Given the description of an element on the screen output the (x, y) to click on. 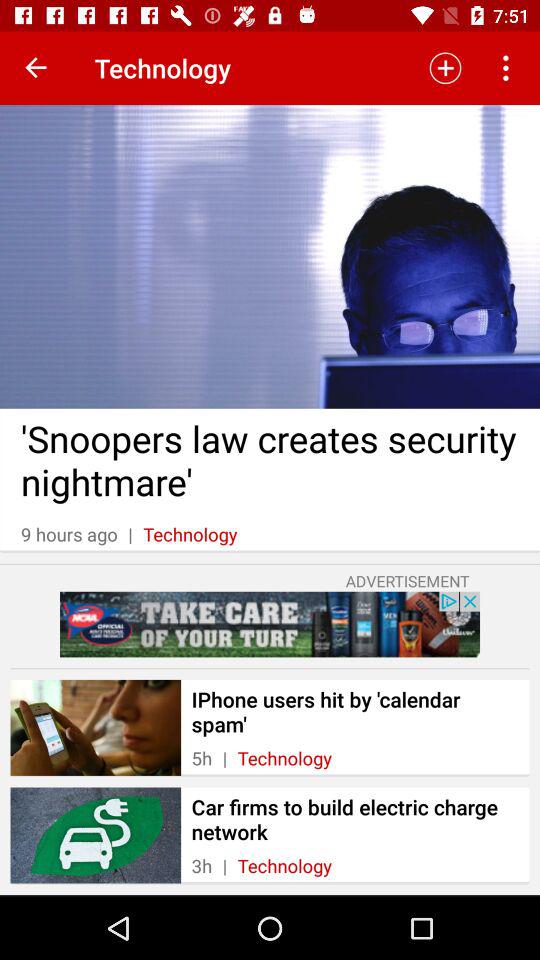
advertisement bar (270, 624)
